Given the description of an element on the screen output the (x, y) to click on. 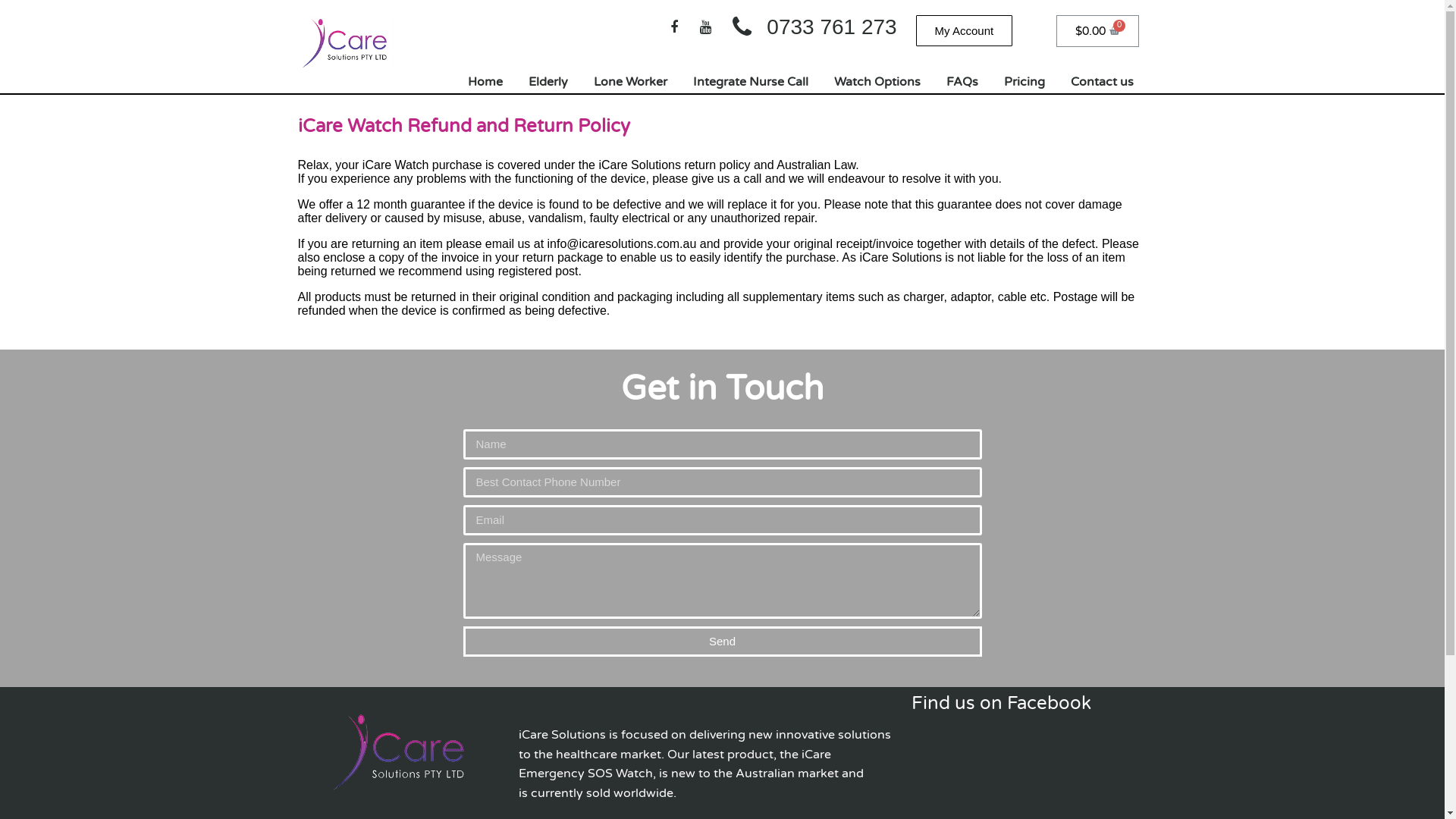
Integrate Nurse Call Element type: text (750, 81)
Lone Worker Element type: text (630, 81)
Pricing Element type: text (1024, 81)
$0.00 Element type: text (1097, 31)
FAQs Element type: text (962, 81)
Elderly Element type: text (547, 81)
Send Element type: text (721, 641)
Contact us Element type: text (1101, 81)
0733 761 273 Element type: text (816, 27)
Watch Options Element type: text (877, 81)
My Account Element type: text (964, 30)
Home Element type: text (485, 81)
